Given the description of an element on the screen output the (x, y) to click on. 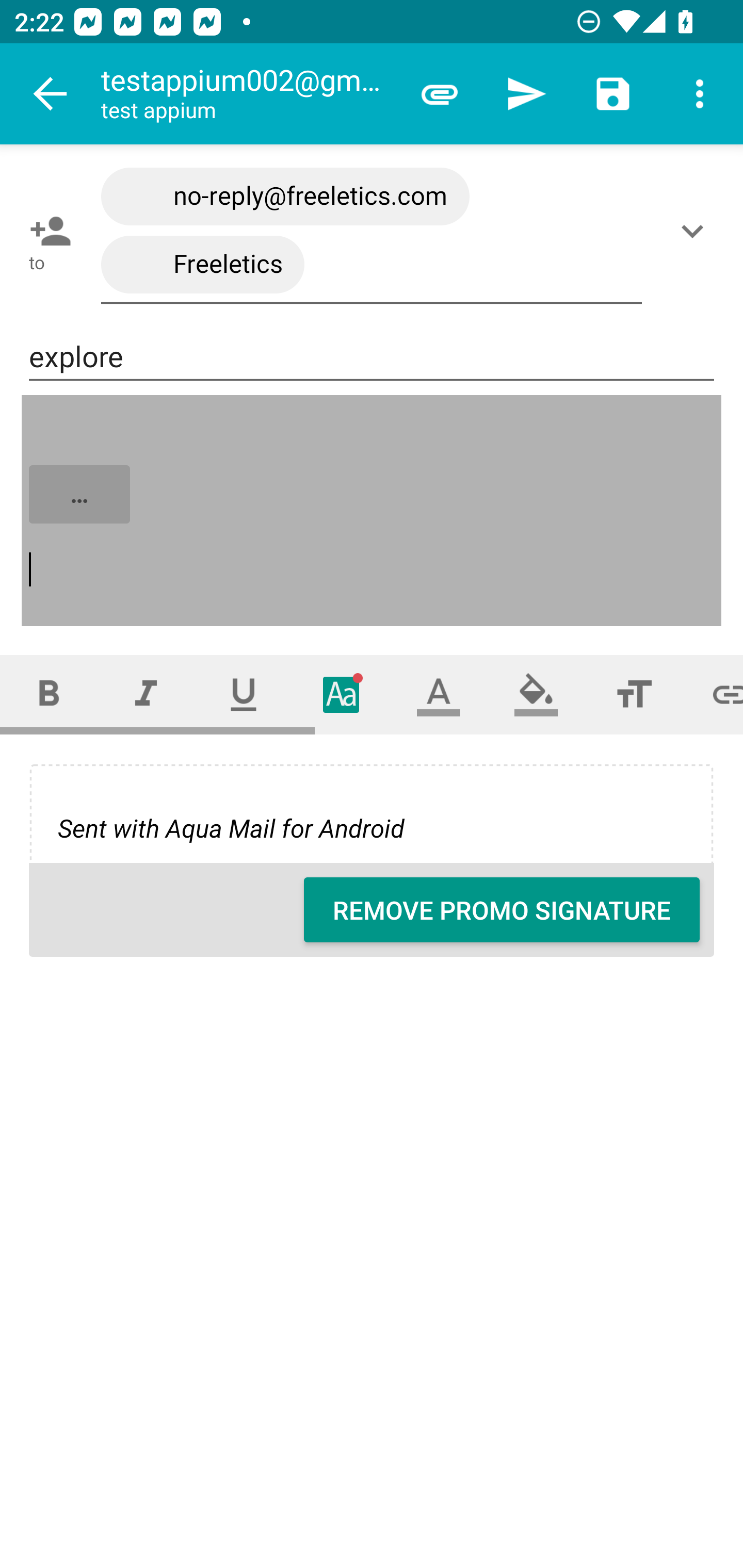
Navigate up (50, 93)
testappium002@gmail.com test appium (248, 93)
Attach (439, 93)
Send (525, 93)
Save (612, 93)
More options (699, 93)
Pick contact: To (46, 231)
Show/Add CC/BCC (696, 231)
explore (371, 356)

…
 (372, 511)
Bold (48, 694)
Italic (145, 694)
Underline (243, 694)
Typeface (font) (341, 694)
Text color (438, 694)
Fill color (536, 694)
Font size (633, 694)
REMOVE PROMO SIGNATURE (501, 910)
